Given the description of an element on the screen output the (x, y) to click on. 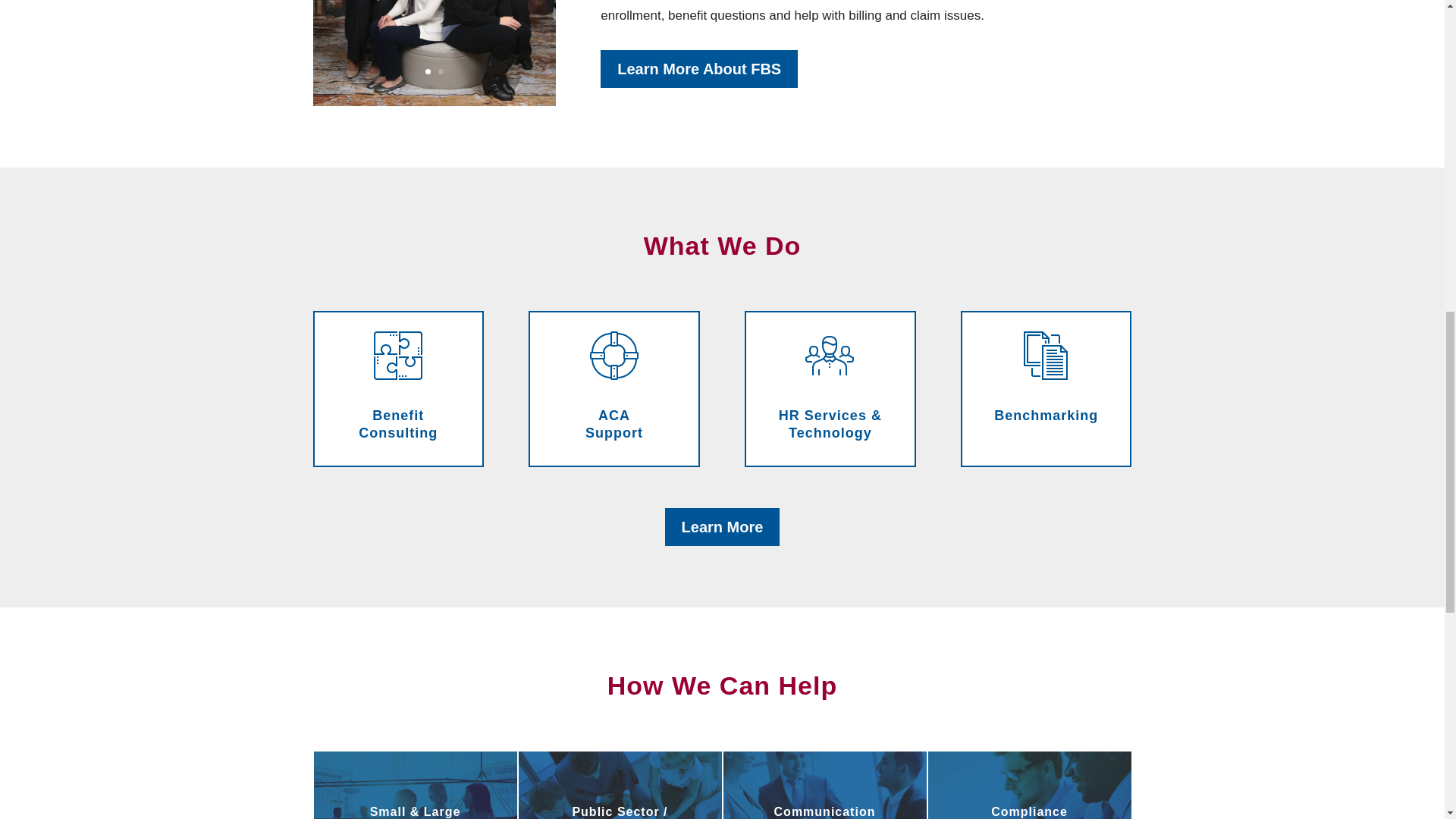
1 (427, 71)
Learn More About FBS (698, 68)
Learn More (722, 526)
2 (441, 71)
Franklin Benefit Solutions (433, 101)
